Given the description of an element on the screen output the (x, y) to click on. 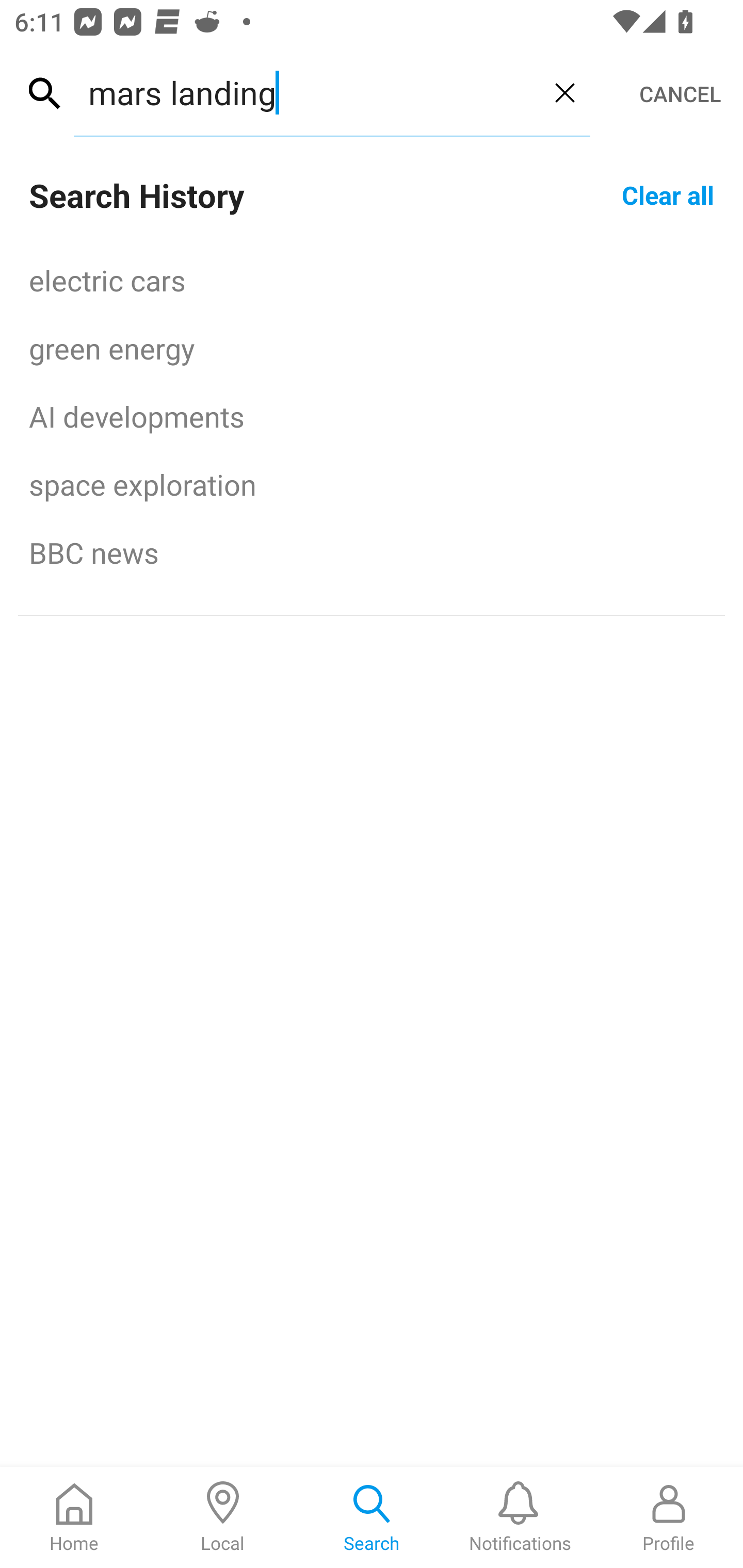
Clear query (564, 92)
CANCEL (680, 93)
mars landing (306, 92)
Clear all (667, 194)
electric cars (371, 279)
green energy (371, 347)
AI developments (371, 416)
space exploration (371, 484)
BBC news (371, 552)
Home (74, 1517)
Local (222, 1517)
Notifications (519, 1517)
Profile (668, 1517)
